Given the description of an element on the screen output the (x, y) to click on. 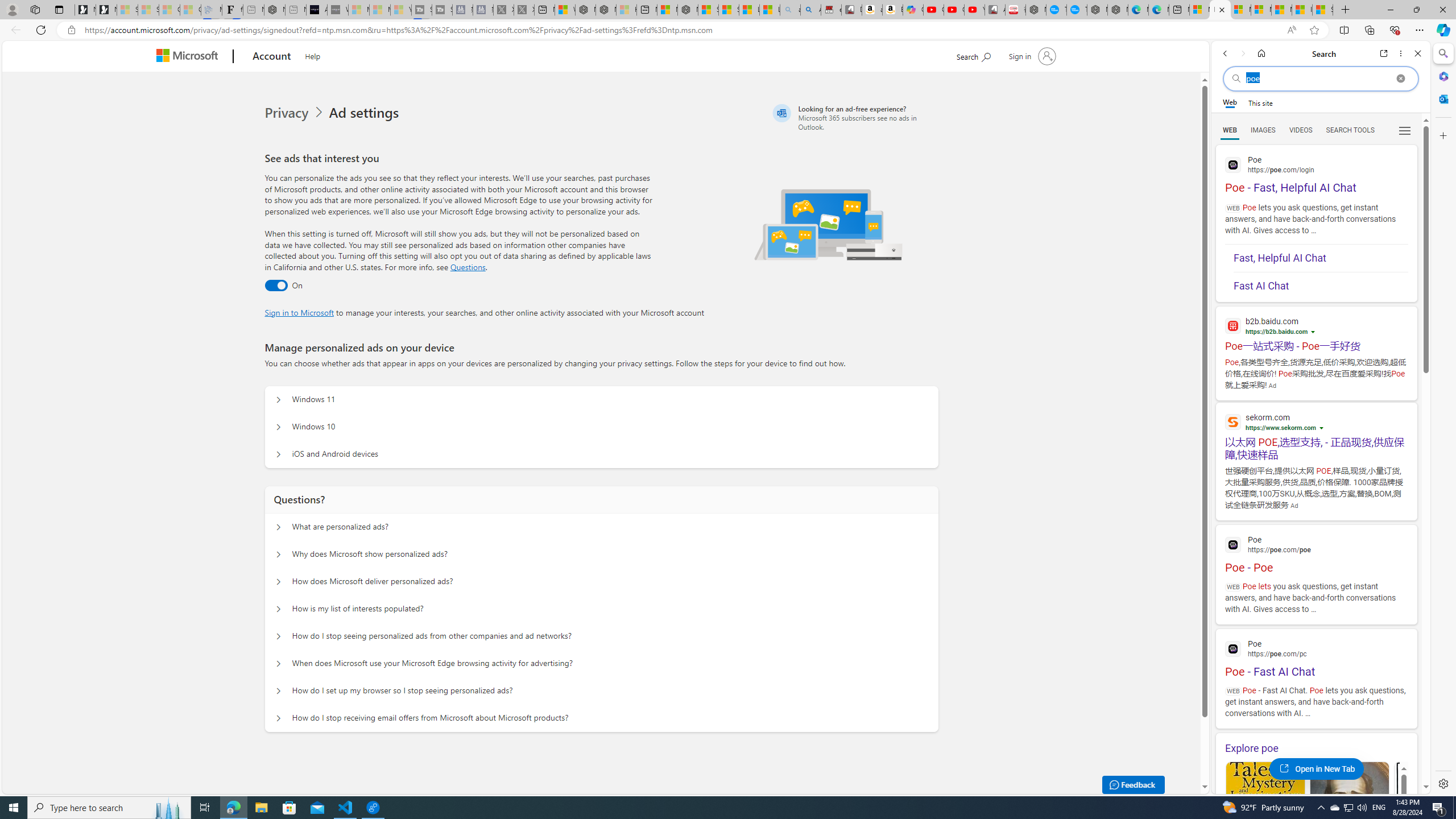
Learn how your ads are chosen (1322, 429)
Microsoft 365 (1442, 76)
Nordace - Nordace has arrived Hong Kong (1117, 9)
The most popular Google 'how to' searches (1076, 9)
Privacy (295, 112)
https://www.sekorm.com (1280, 427)
Ad settings (366, 112)
